Given the description of an element on the screen output the (x, y) to click on. 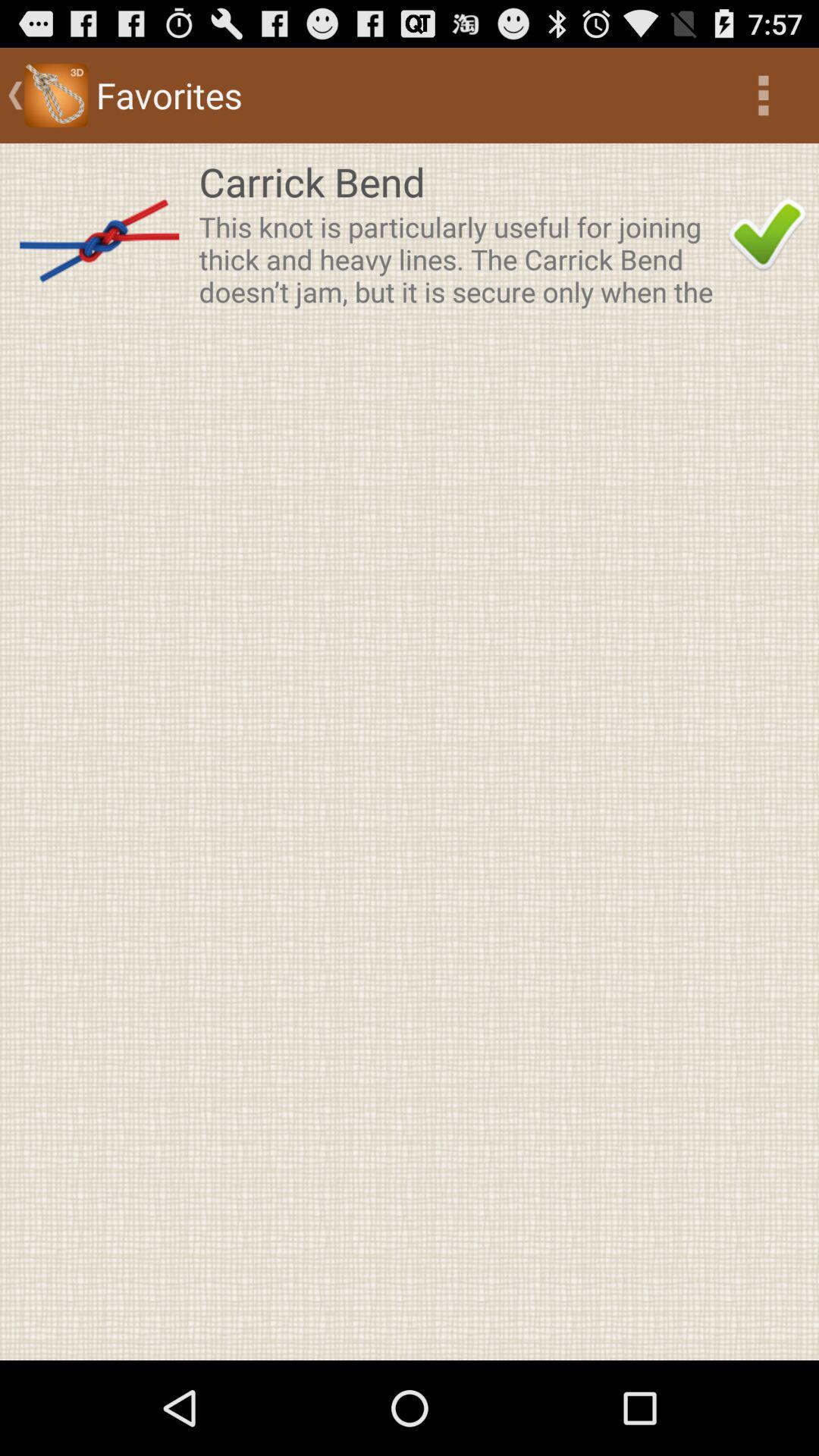
tap icon to the left of the carrick bend icon (99, 234)
